Given the description of an element on the screen output the (x, y) to click on. 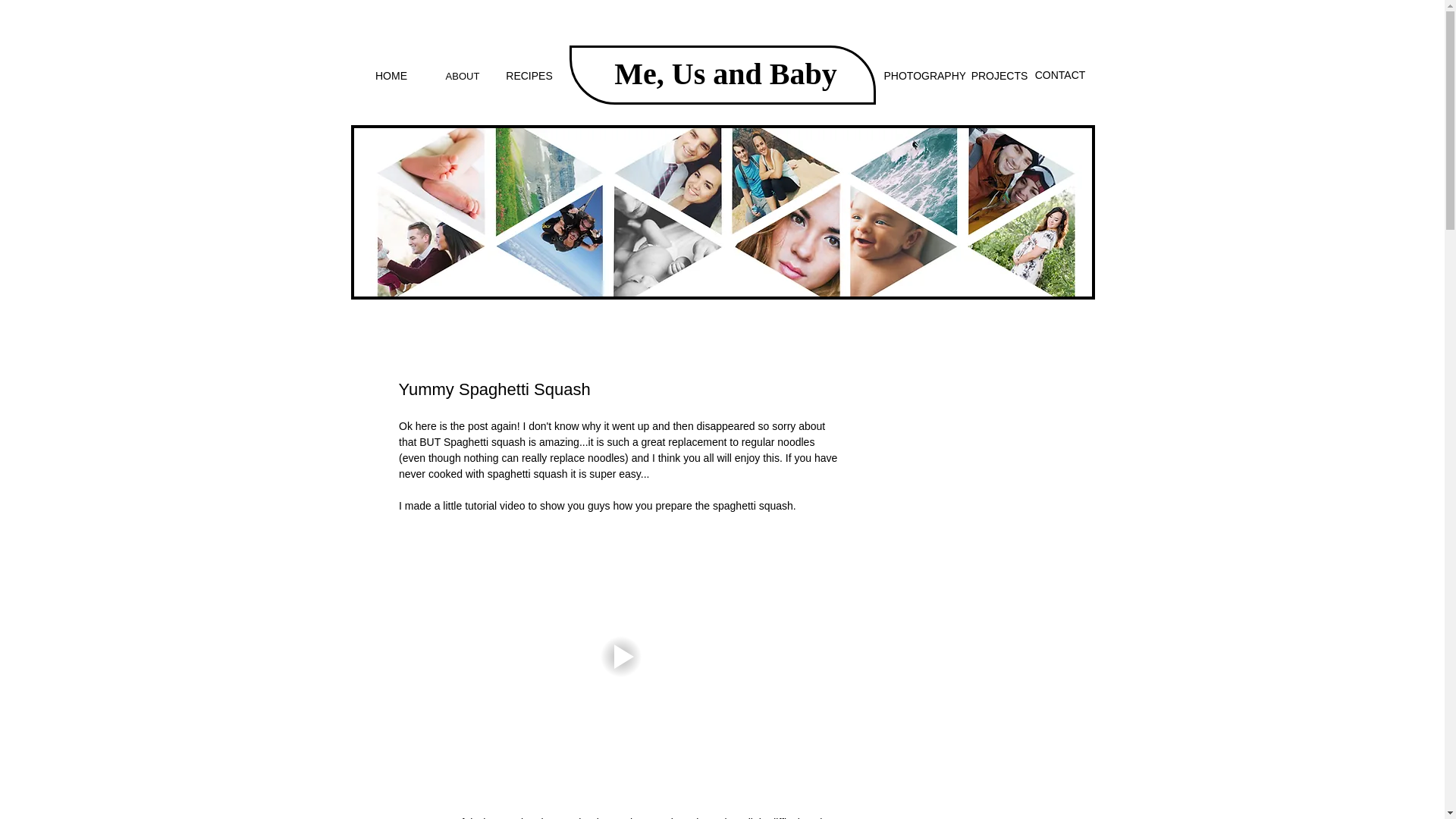
Me, Us and Baby (724, 73)
RECIPES (529, 76)
PROJECTS (998, 76)
CONTACT (1059, 75)
HOME (390, 76)
PHOTOGRAPHY (924, 76)
